Given the description of an element on the screen output the (x, y) to click on. 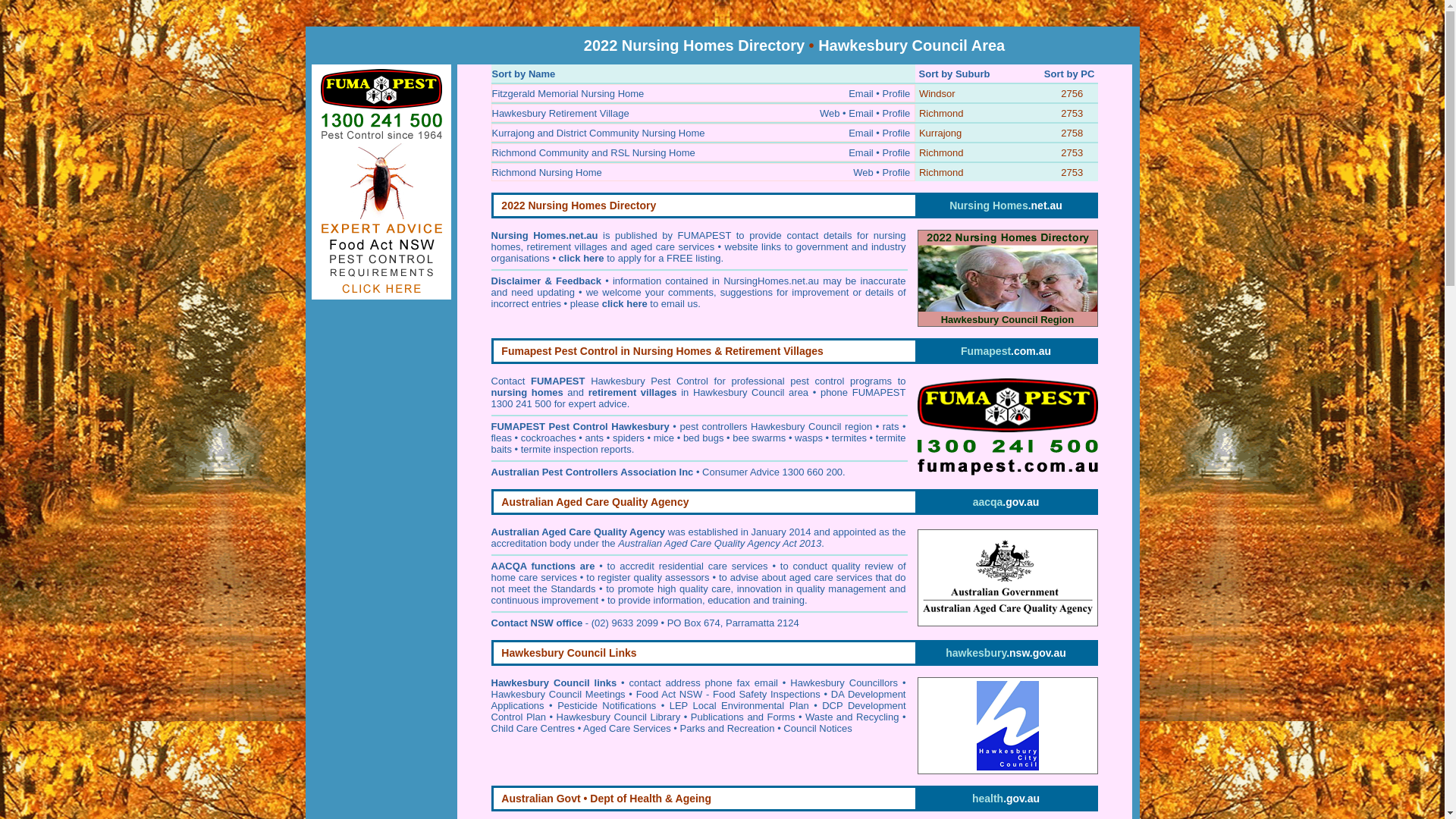
Hawkesbury Council Meetings Element type: text (558, 693)
FUMAPEST Element type: text (518, 426)
Hawkesbury Council links Element type: text (554, 682)
Waste and Recycling Element type: text (851, 716)
Hawkesbury Council Region Element type: text (1007, 277)
fleas Element type: text (501, 437)
Richmond Element type: text (941, 152)
click here Element type: text (581, 257)
bed bugs Element type: text (703, 437)
termite baits Element type: text (698, 443)
Publications and Forms Element type: text (742, 716)
Richmond Element type: text (941, 113)
Hawkesbury Council Library Element type: text (618, 716)
pest controllers Hawkesbury Council Element type: text (759, 426)
LEP Local Environmental Plan Element type: text (739, 705)
Pest Control Hawkesbury Element type: text (609, 426)
Council Notices Element type: text (817, 728)
aacqa.gov.au Element type: text (1005, 501)
contact address phone fax email Element type: text (703, 682)
Parks and Recreation Element type: text (727, 728)
Aged Care Services Element type: text (627, 728)
Sort by Suburb Element type: text (954, 73)
Windsor Element type: text (937, 93)
hawkesbury.nsw.gov.au Element type: text (1005, 652)
Pesticide Notifications Element type: text (606, 705)
Fumapest.com.au Element type: text (1005, 351)
FUMAPEST Element type: text (557, 380)
Hawkesbury Pest Control Element type: text (649, 380)
mice Element type: text (663, 437)
wasps Element type: text (808, 437)
spiders Element type: text (628, 437)
ants Element type: text (594, 437)
termites Element type: text (848, 437)
Sort by Name Element type: text (523, 73)
bee swarms Element type: text (758, 437)
please click here to email us Element type: text (633, 303)
Hawkesbury Council Links Element type: text (568, 652)
Kurrajong Element type: text (940, 132)
Richmond Element type: text (941, 172)
Australian Pest Controllers Association Inc Element type: text (592, 471)
health.gov.au Element type: text (1005, 798)
DCP Development Control Plan Element type: text (698, 710)
termite inspection reports Element type: text (575, 449)
Nursing Homes.net.au Element type: text (1005, 205)
Sort by PC Element type: text (1069, 73)
DA Development Applications Element type: text (698, 699)
rats Element type: text (890, 426)
cockroaches Element type: text (548, 437)
Food Act NSW - Food Safety Inspections Element type: text (728, 693)
Hawkesbury Councillors Element type: text (843, 682)
Child Care Centres Element type: text (533, 728)
